Given the description of an element on the screen output the (x, y) to click on. 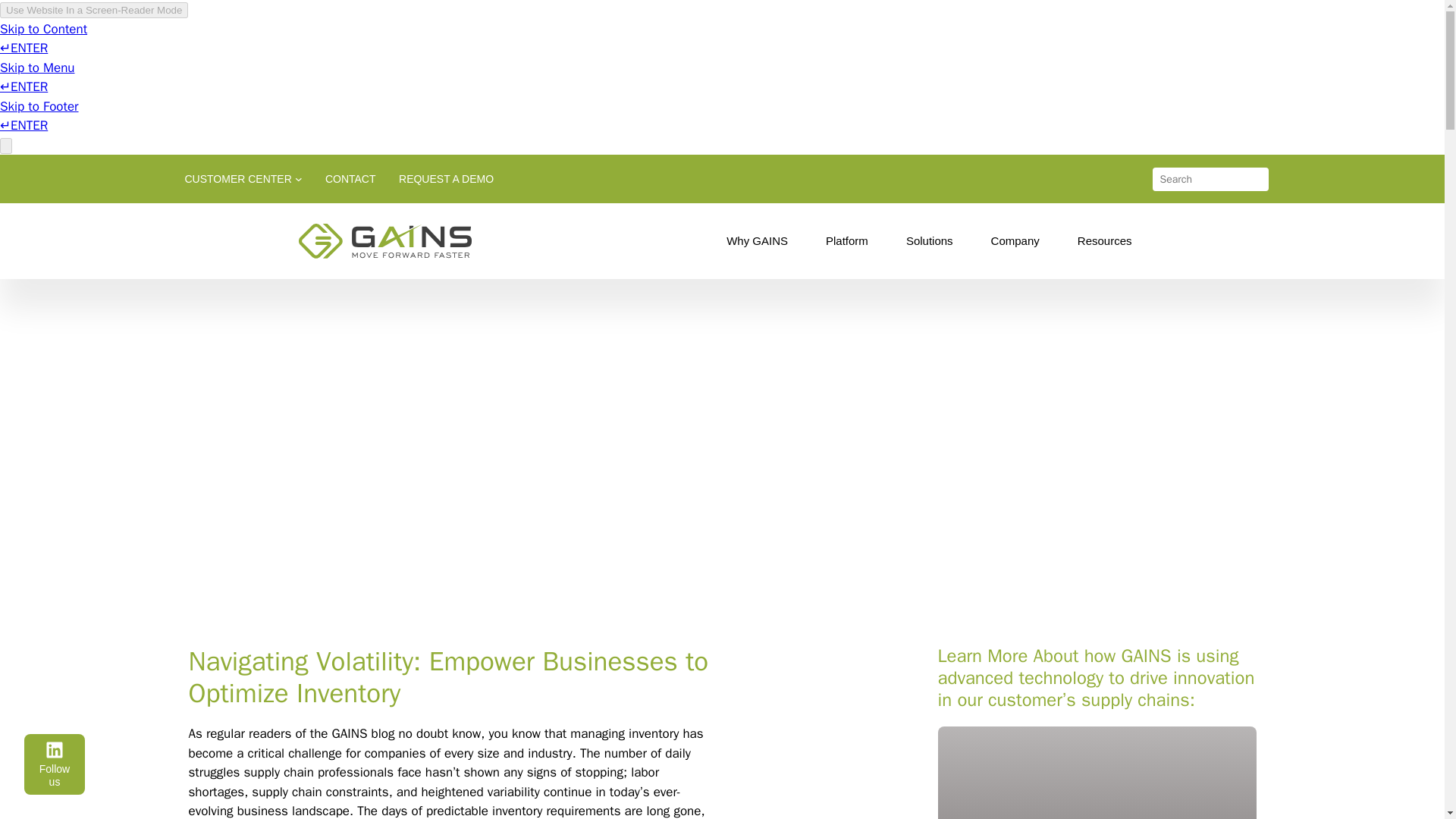
REQUEST A DEMO (445, 178)
CUSTOMER CENTER (238, 178)
Solutions (933, 240)
CONTACT (349, 178)
Why GAINS (760, 240)
Platform (850, 240)
